Given the description of an element on the screen output the (x, y) to click on. 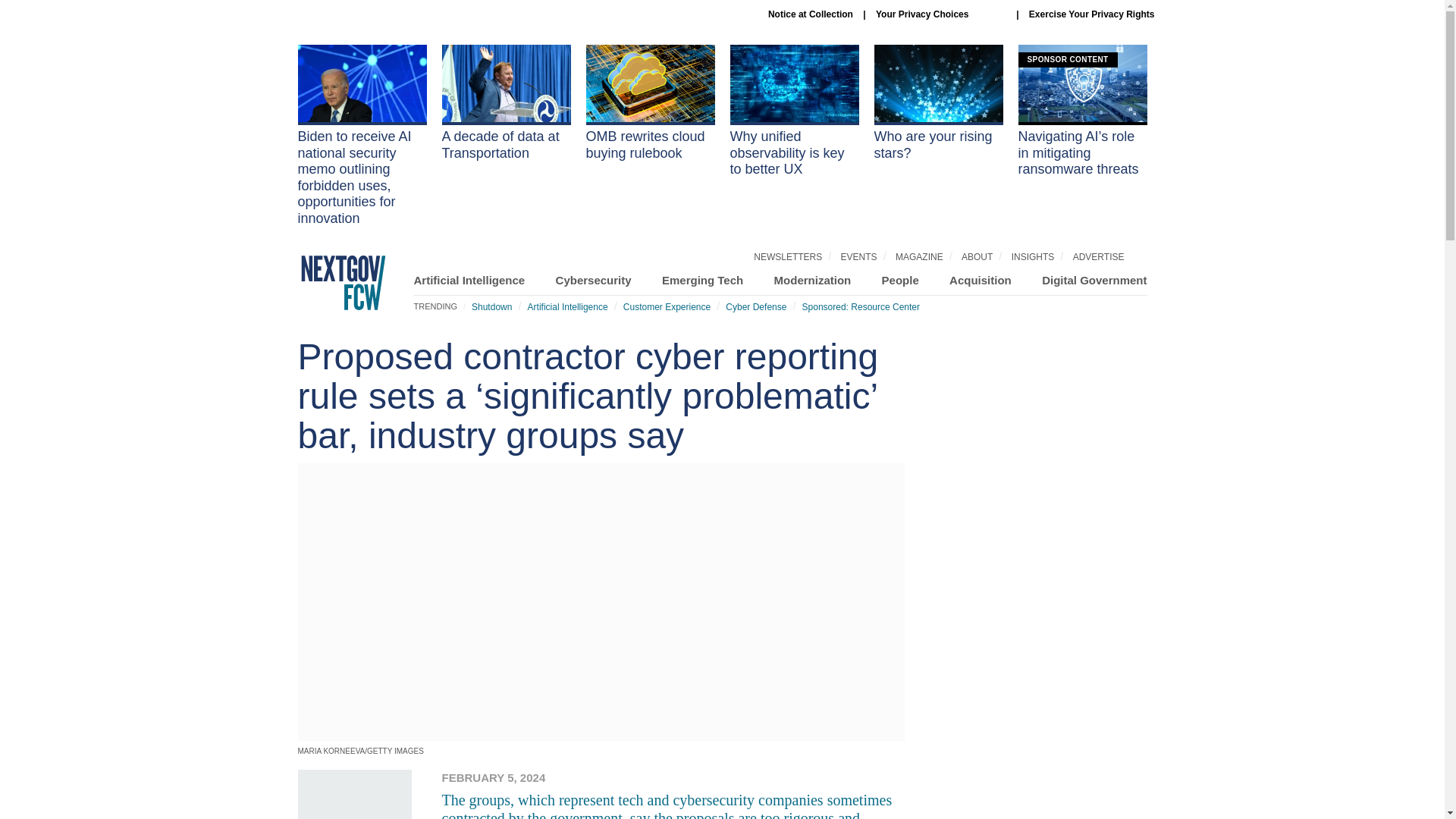
Your Privacy Choices (941, 14)
Who are your rising stars? (938, 103)
ABOUT (976, 256)
A decade of data at Transportation (505, 103)
Sponsored: Resource Center (861, 307)
People (900, 279)
ADVERTISE (1098, 256)
Shutdown (491, 307)
Emerging Tech (702, 279)
INSIGHTS (1032, 256)
EVENTS (859, 256)
Notice at Collection (810, 14)
Acquisition (980, 279)
Modernization (812, 279)
Customer Experience (666, 307)
